Given the description of an element on the screen output the (x, y) to click on. 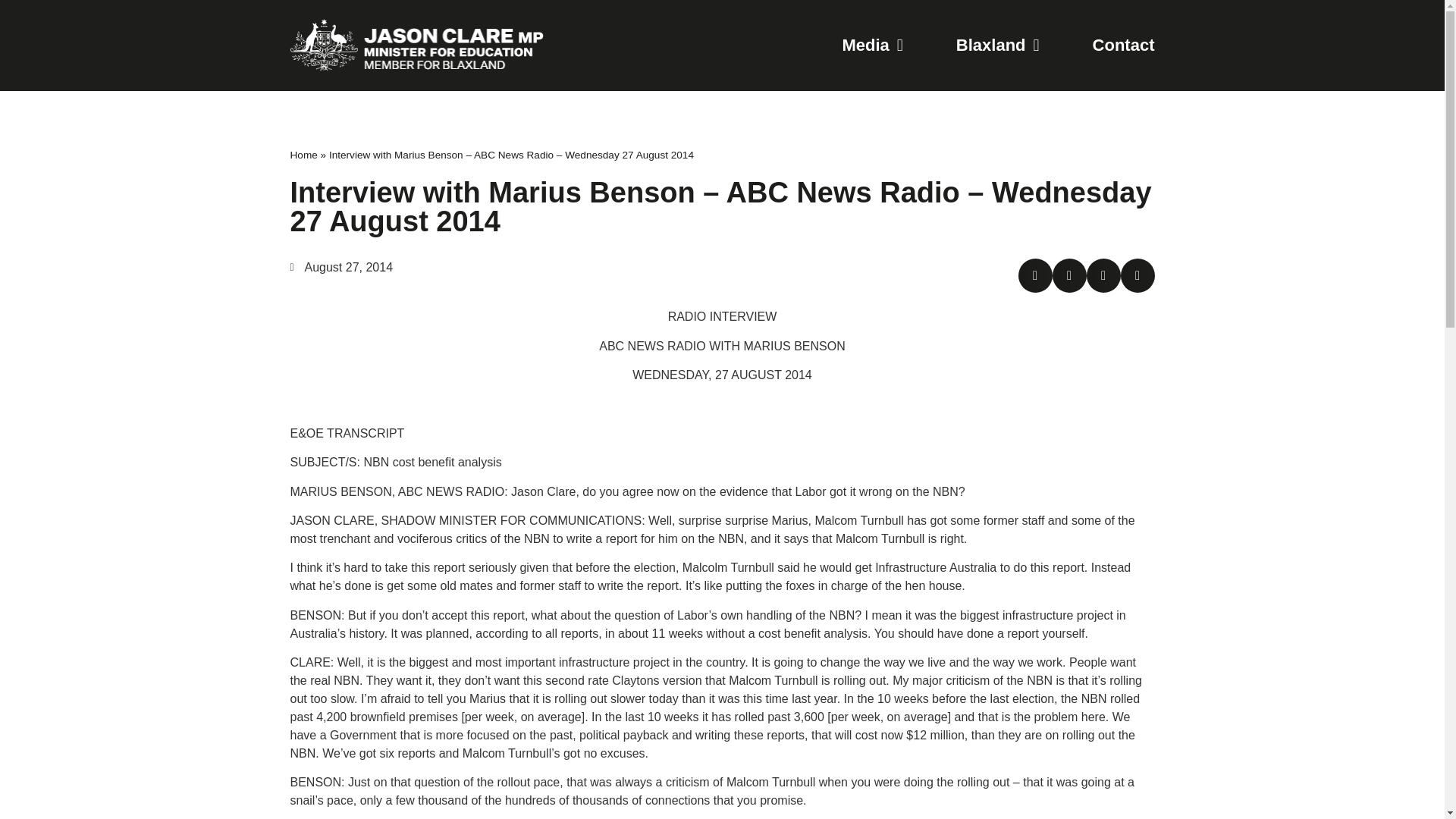
Blaxland (997, 45)
Media (871, 45)
Contact (1123, 45)
